Given the description of an element on the screen output the (x, y) to click on. 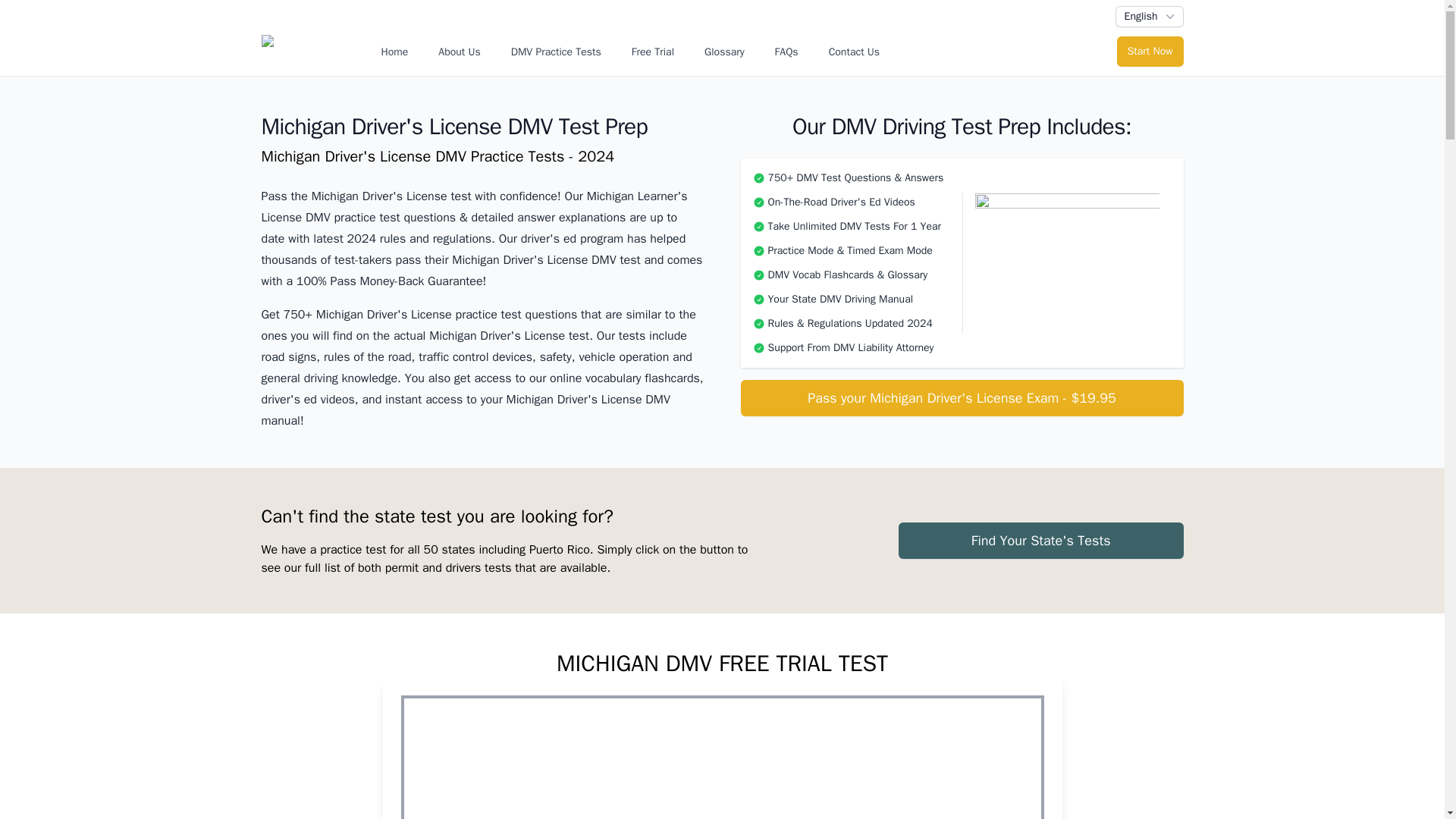
DMV Practice Tests (556, 51)
Contact Us (853, 51)
About Us (459, 51)
FAQs (786, 51)
Free Trial (652, 51)
English (1149, 16)
Home (393, 51)
Start Now (1149, 51)
Glossary (724, 51)
Find Your State's Tests (1040, 540)
Find Your State's Tests (1040, 540)
